Given the description of an element on the screen output the (x, y) to click on. 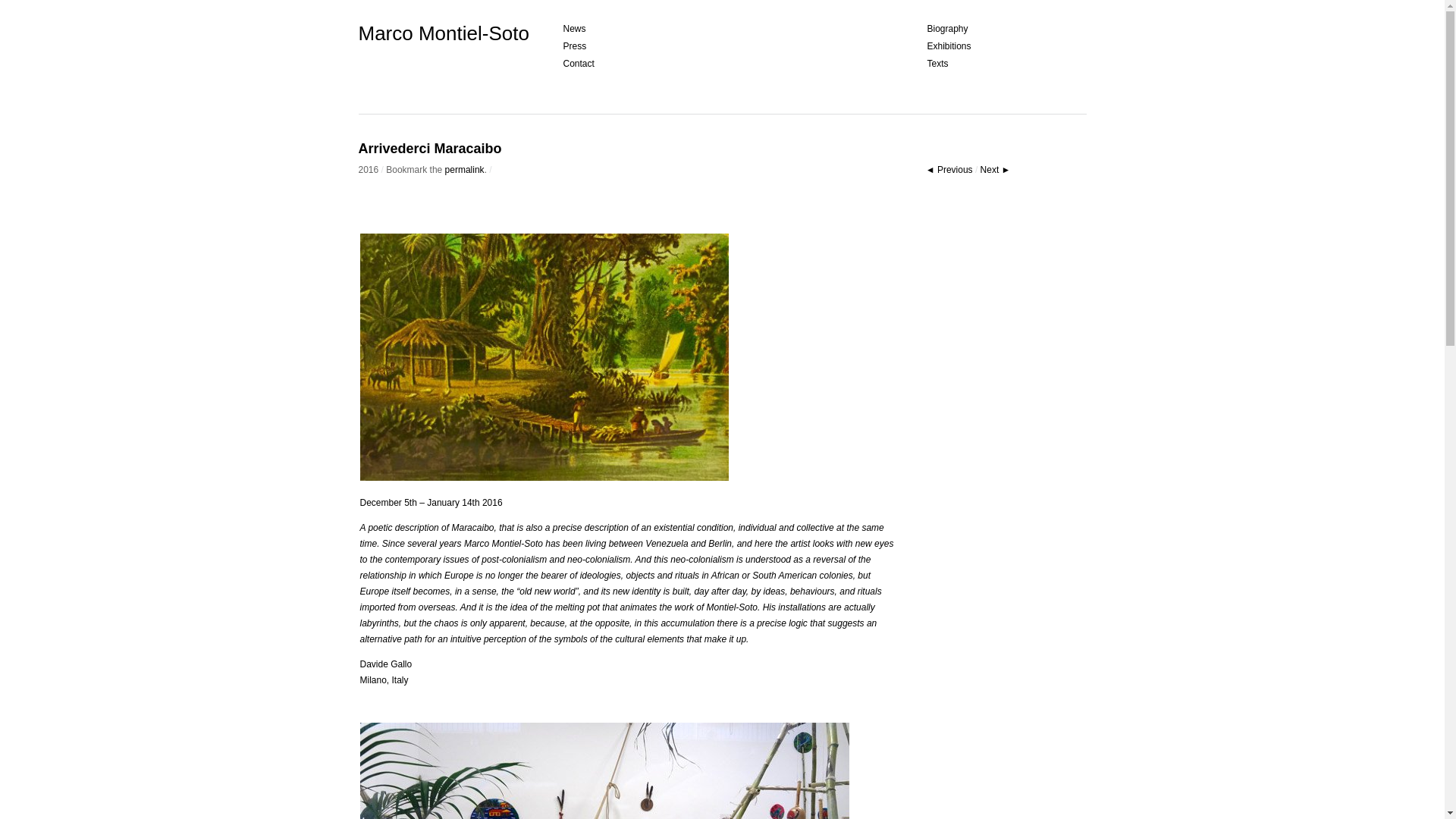
permalink (464, 169)
Press (574, 45)
Permalink to Arrivederci Maracaibo (464, 169)
Marco Montiel-Soto (443, 33)
Biography (947, 28)
News (573, 28)
Exhibitions (948, 45)
Marco Montiel-Soto (443, 33)
Contact (578, 63)
Texts (936, 63)
